Given the description of an element on the screen output the (x, y) to click on. 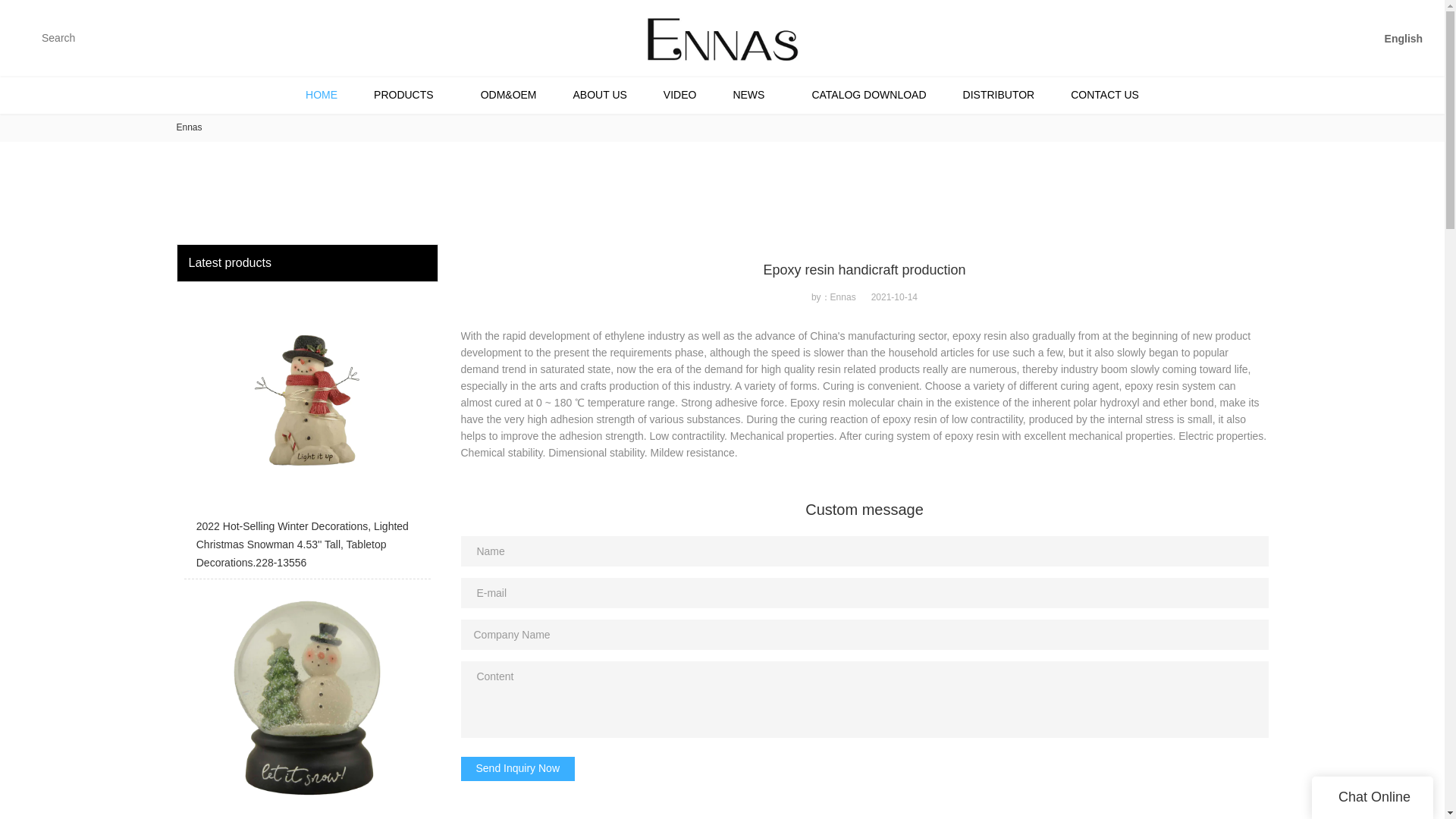
HOME (320, 94)
CONTACT US (1104, 94)
Ennas (189, 127)
DISTRIBUTOR (998, 94)
PRODUCTS (409, 94)
VIDEO (679, 94)
ABOUT US (599, 94)
CATALOG DOWNLOAD (868, 94)
Send Inquiry Now (518, 768)
NEWS (753, 94)
